Given the description of an element on the screen output the (x, y) to click on. 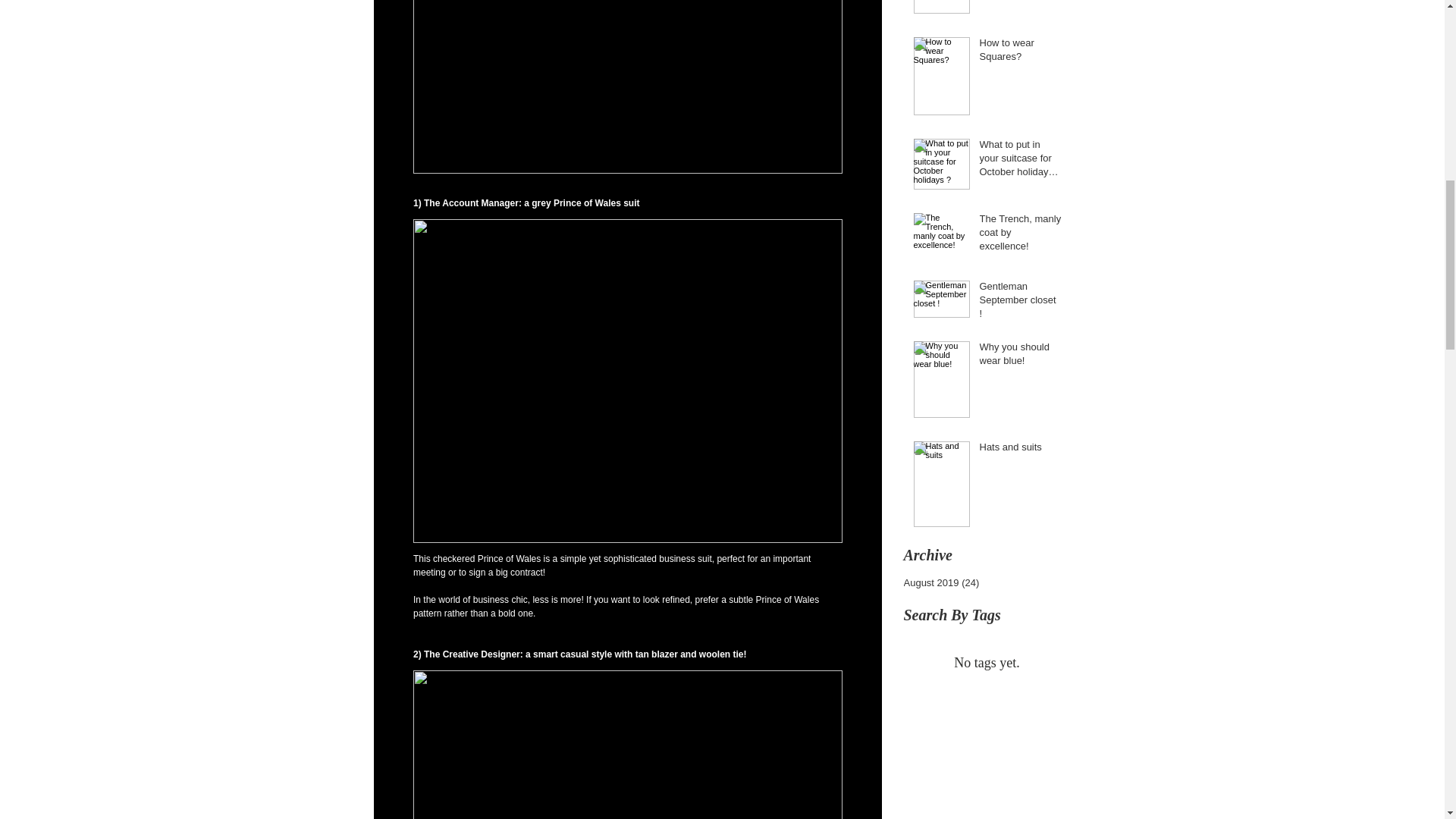
Hats and suits (1020, 450)
Why you should wear blue! (1020, 356)
What to put in your suitcase for October holidays ? (1020, 161)
The Trench, manly coat by excellence! (1020, 236)
How to wear Squares? (1020, 52)
Gentleman September closet ! (1020, 303)
